Given the description of an element on the screen output the (x, y) to click on. 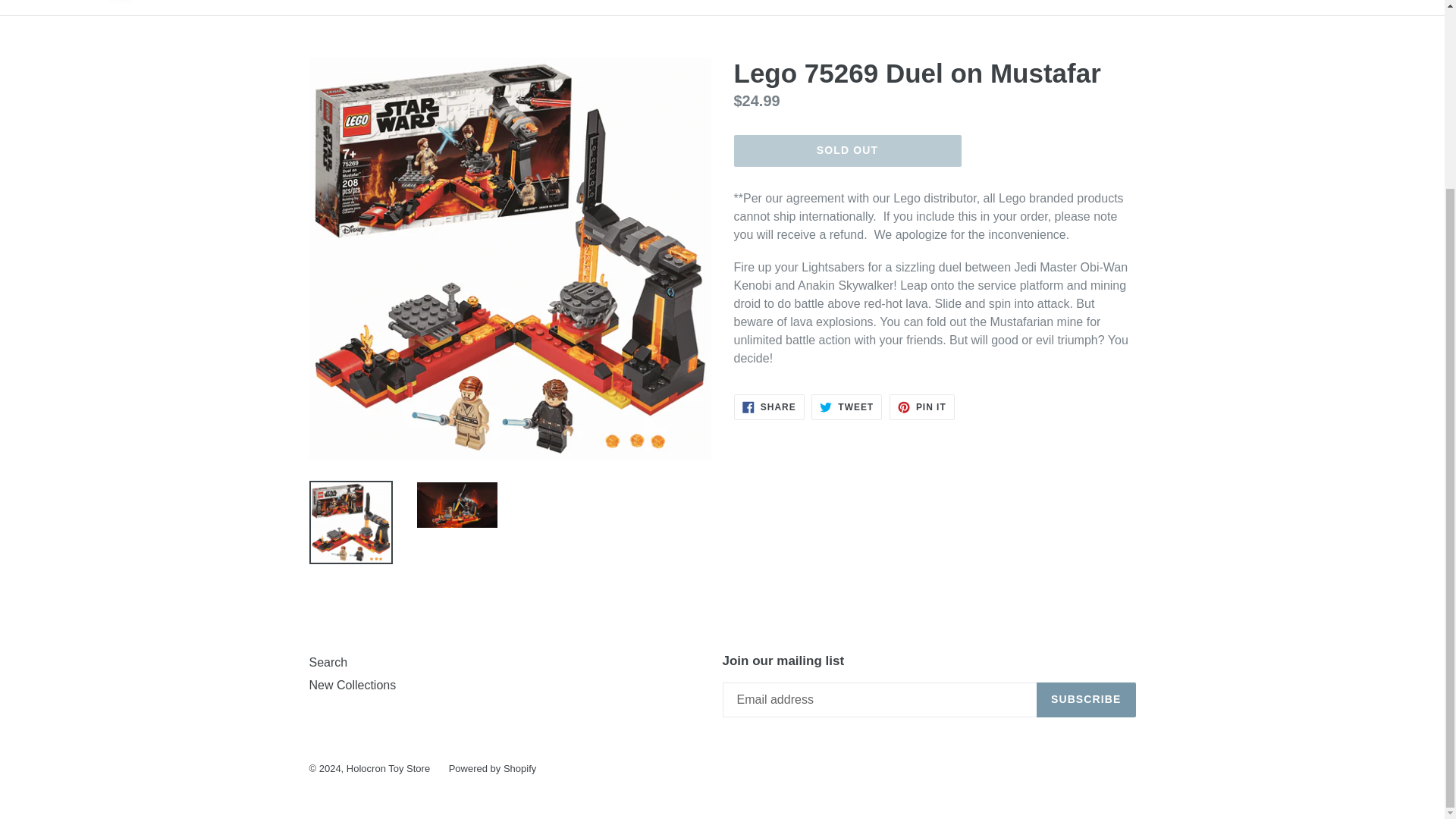
SUBSCRIBE (1085, 699)
New Collections (352, 684)
Share on Facebook (769, 406)
Tweet on Twitter (846, 406)
SOLD OUT (846, 151)
Pin on Pinterest (922, 406)
Search (846, 406)
Holocron Toy Store (327, 662)
Powered by Shopify (387, 767)
